Given the description of an element on the screen output the (x, y) to click on. 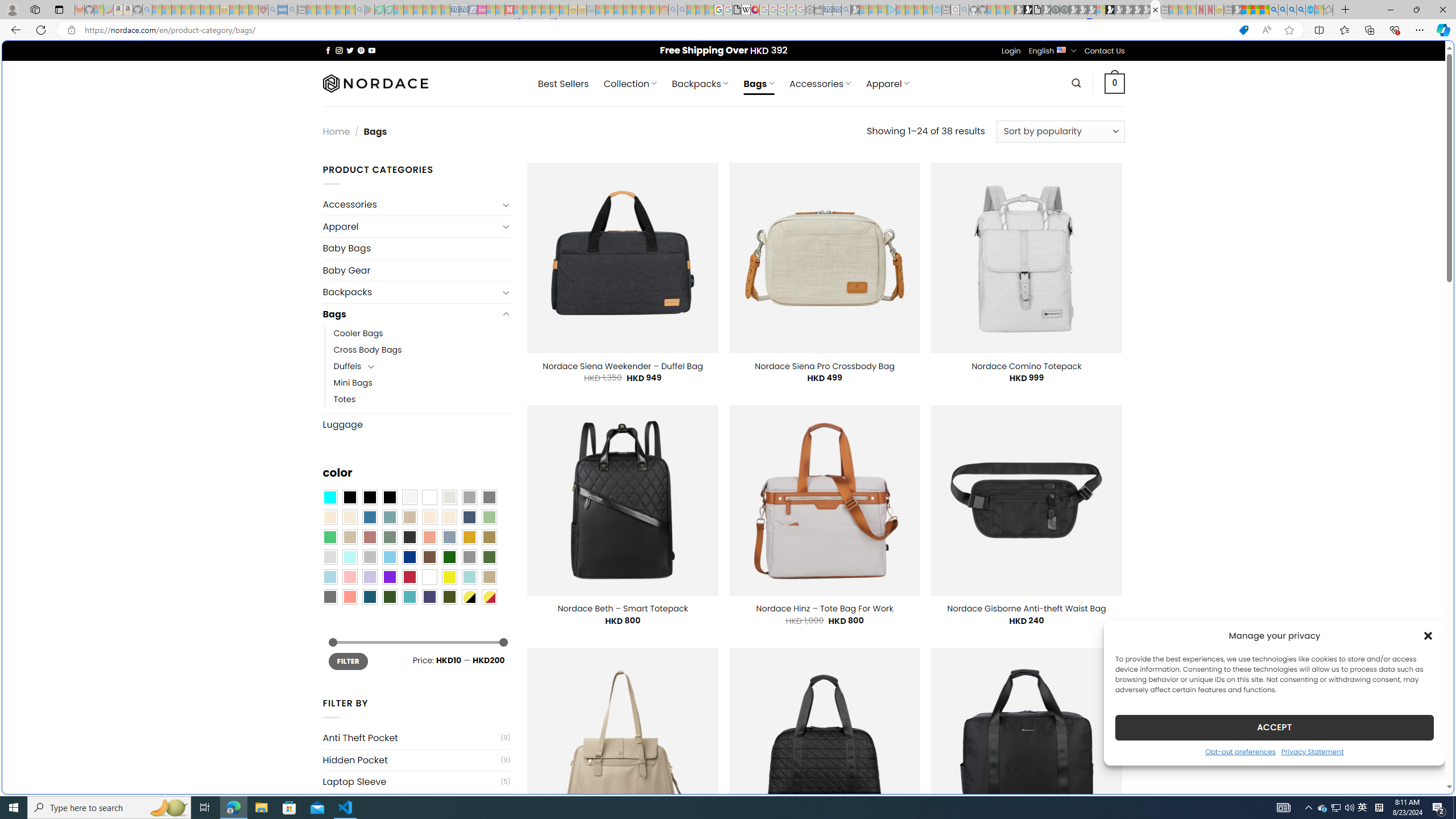
Totes (344, 398)
ACCEPT (1274, 727)
Light Green (488, 517)
Target page - Wikipedia (745, 9)
Contact Us (1104, 50)
Dusty Blue (449, 536)
